Given the description of an element on the screen output the (x, y) to click on. 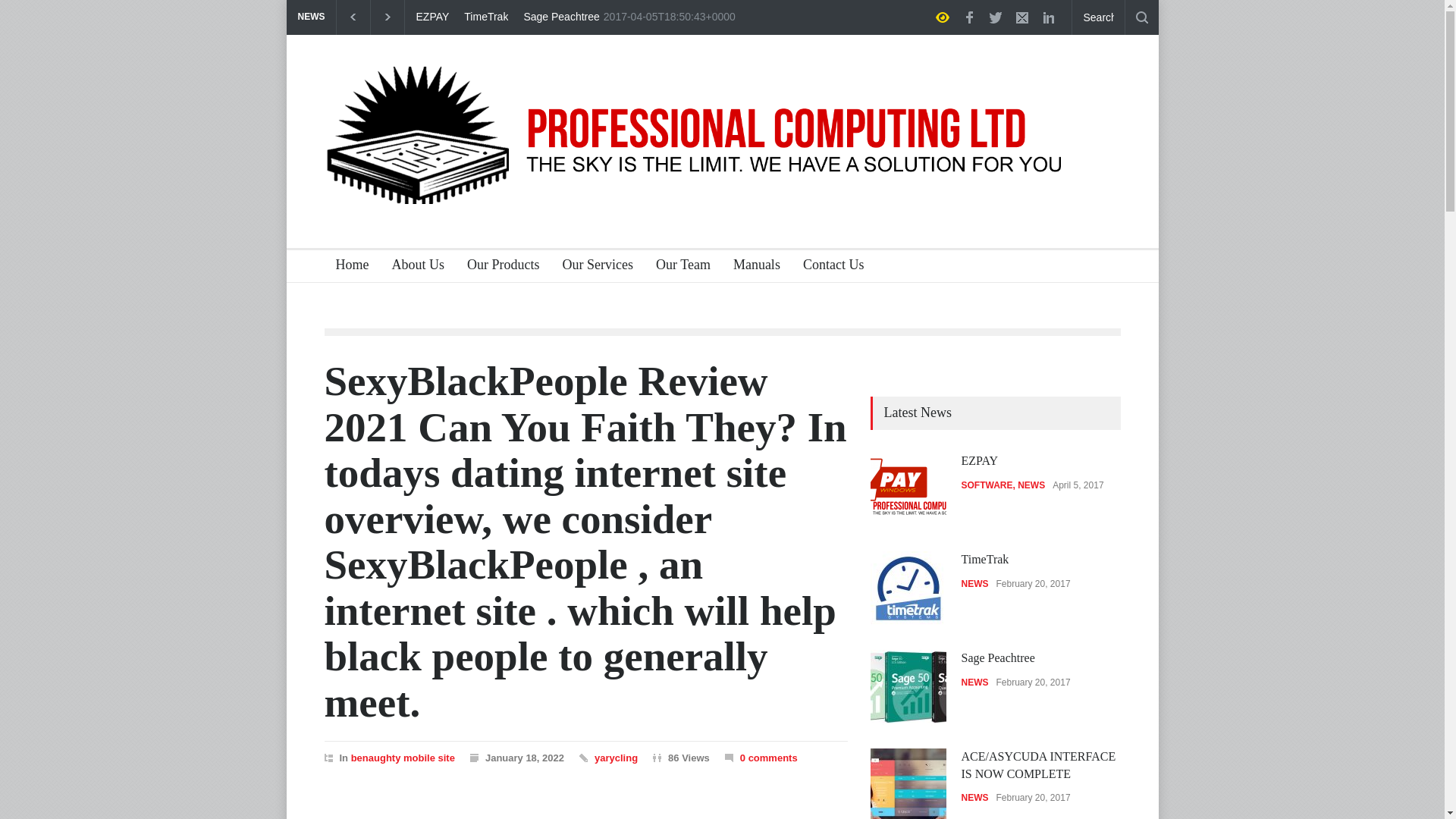
Home (346, 266)
TimeTrak (486, 17)
Search... (1098, 17)
yarycling (615, 757)
0 comments (761, 757)
0 comments (768, 757)
Search... (1098, 17)
Our Team (677, 266)
Our Services (592, 266)
Sage Peachtree (560, 17)
Professional Computing Ltd (722, 195)
Our Products (497, 266)
benaughty mobile site (402, 757)
